Given the description of an element on the screen output the (x, y) to click on. 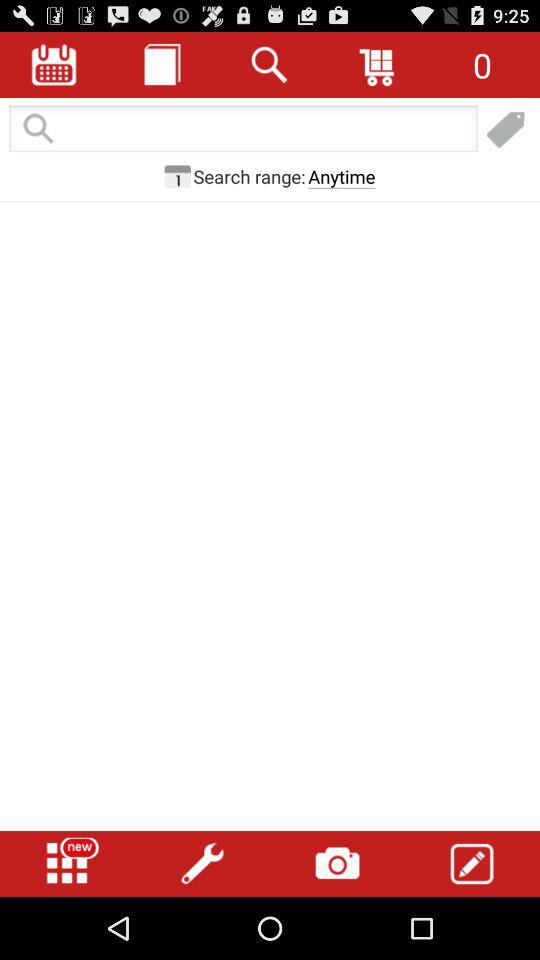
open calendar (53, 64)
